Given the description of an element on the screen output the (x, y) to click on. 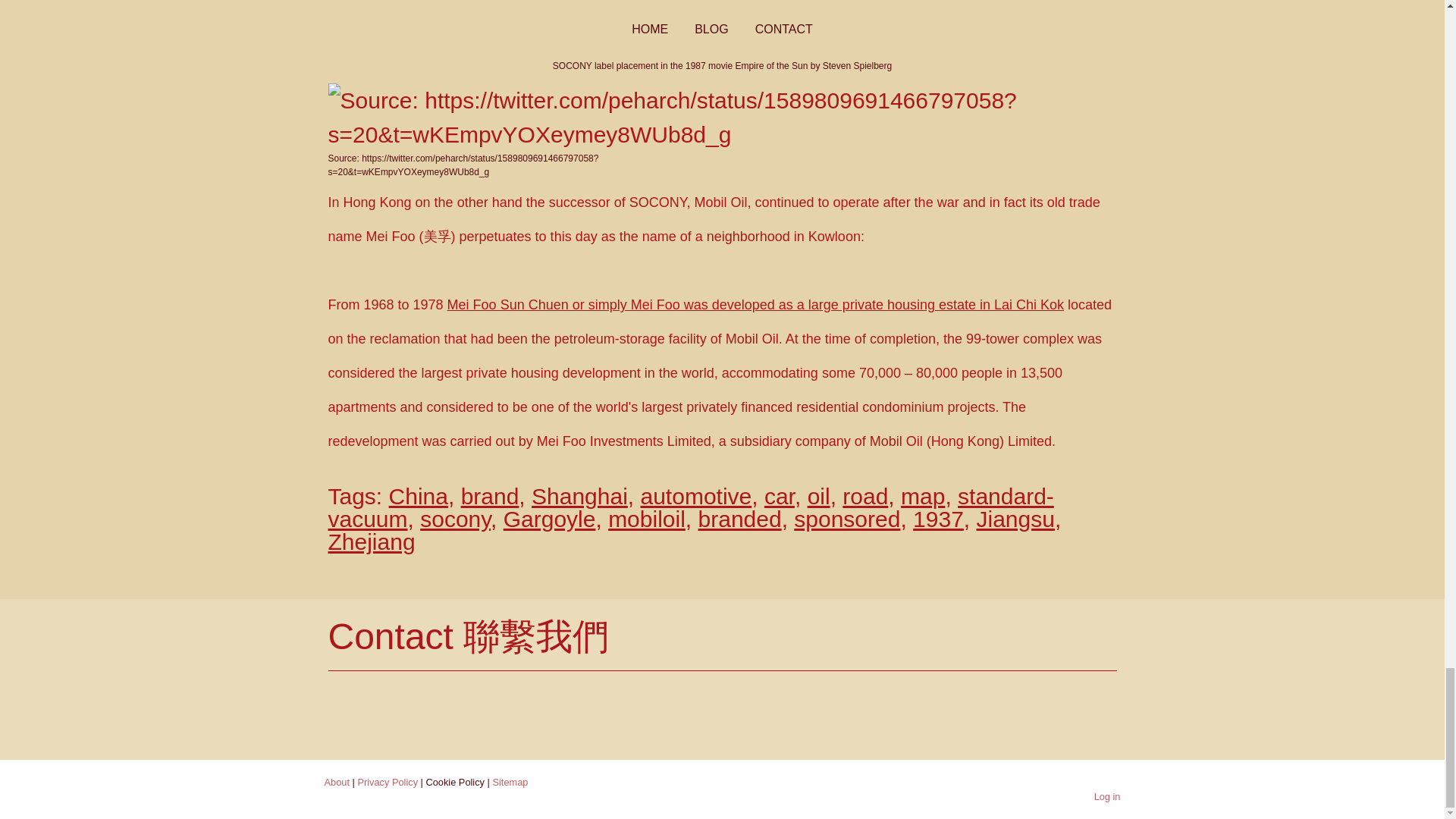
oil (818, 496)
branded (739, 518)
road (865, 496)
map (922, 496)
mobiloil (646, 518)
sponsored (846, 518)
Gargoyle (549, 518)
brand (490, 496)
Shanghai (579, 496)
